Given the description of an element on the screen output the (x, y) to click on. 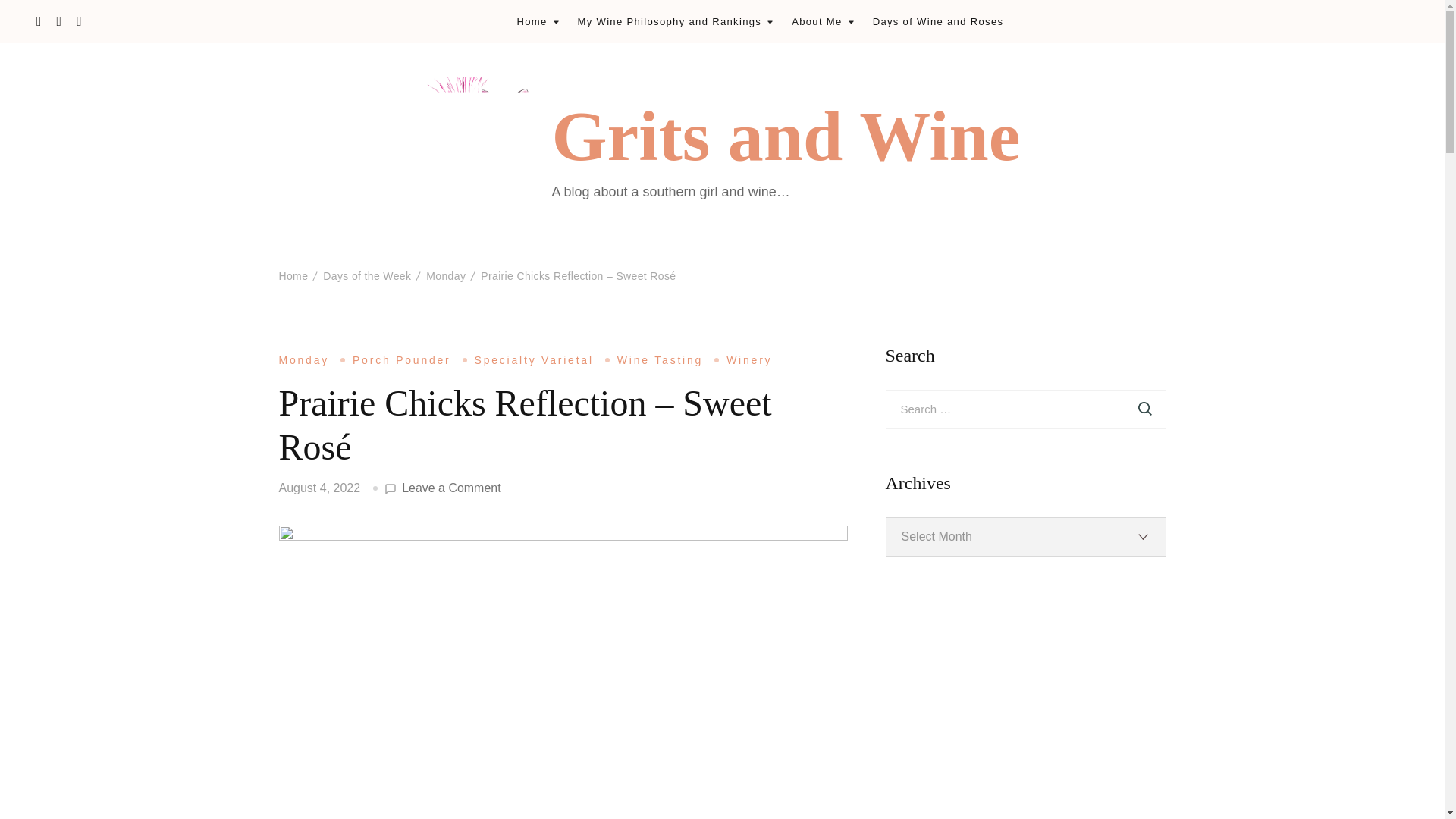
About Me (816, 21)
Search (1145, 409)
Home (531, 21)
Days of Wine and Roses (938, 21)
My Wine Philosophy and Rankings (669, 21)
Grits and Wine (785, 135)
Search (1145, 409)
